Given the description of an element on the screen output the (x, y) to click on. 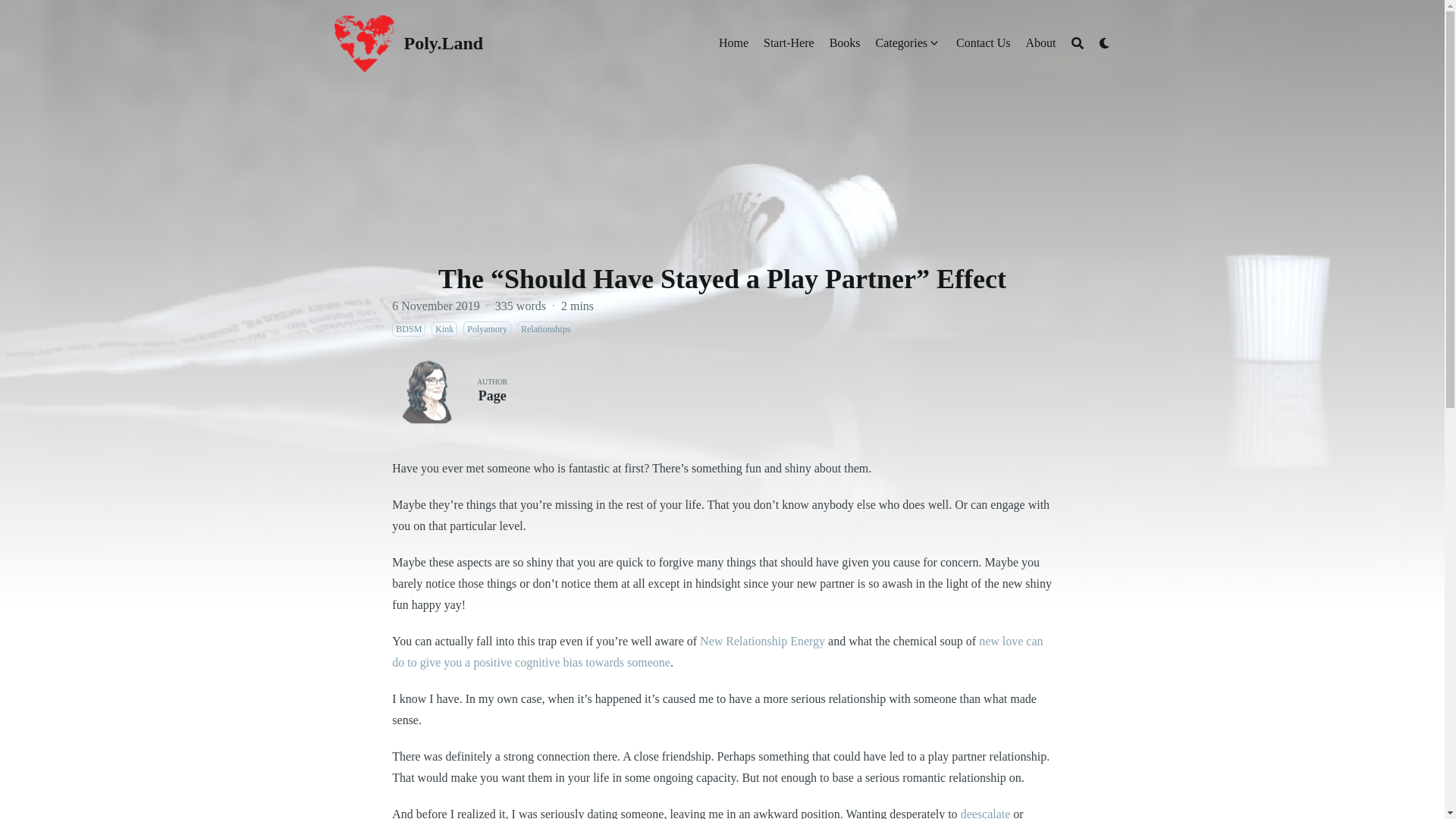
Categories (901, 43)
Poly.Land (443, 43)
Poly.Land (363, 43)
Home (733, 43)
Start-Here (787, 43)
Books (844, 43)
New Relationship Energy (762, 640)
